Given the description of an element on the screen output the (x, y) to click on. 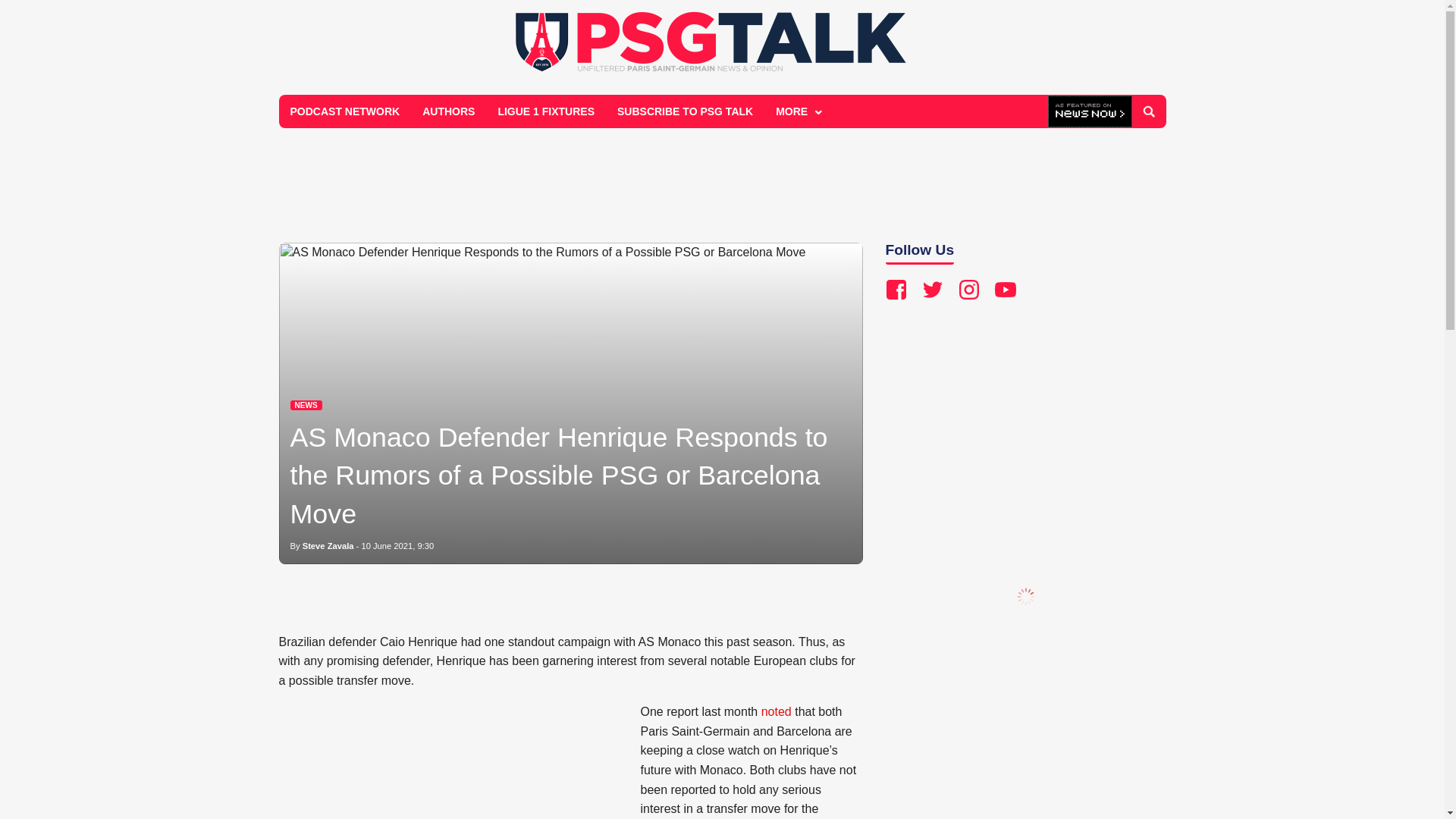
Steve Zavala (327, 545)
10 June 2021, 9:30 (397, 545)
LIGUE 1 FIXTURES (545, 111)
SUBSCRIBE TO PSG TALK (684, 111)
PODCAST NETWORK (345, 111)
Click here for more PSG news from NewsNow (1090, 111)
NEWS (305, 405)
AUTHORS (448, 111)
Search (1147, 111)
Latest News News (305, 405)
noted (776, 711)
MORE (796, 111)
